Given the description of an element on the screen output the (x, y) to click on. 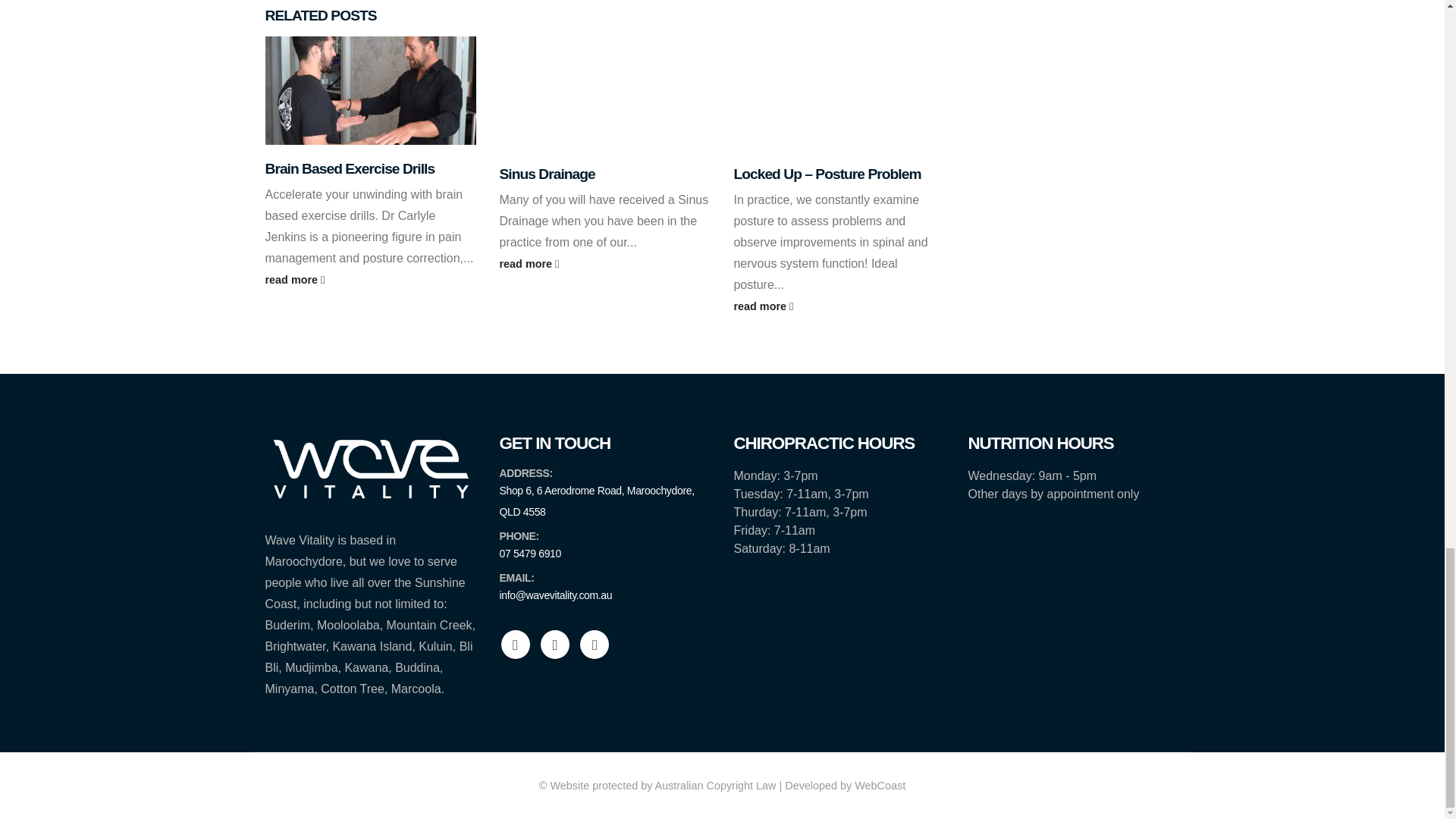
YouTube video player (838, 92)
YouTube video player (604, 92)
